Given the description of an element on the screen output the (x, y) to click on. 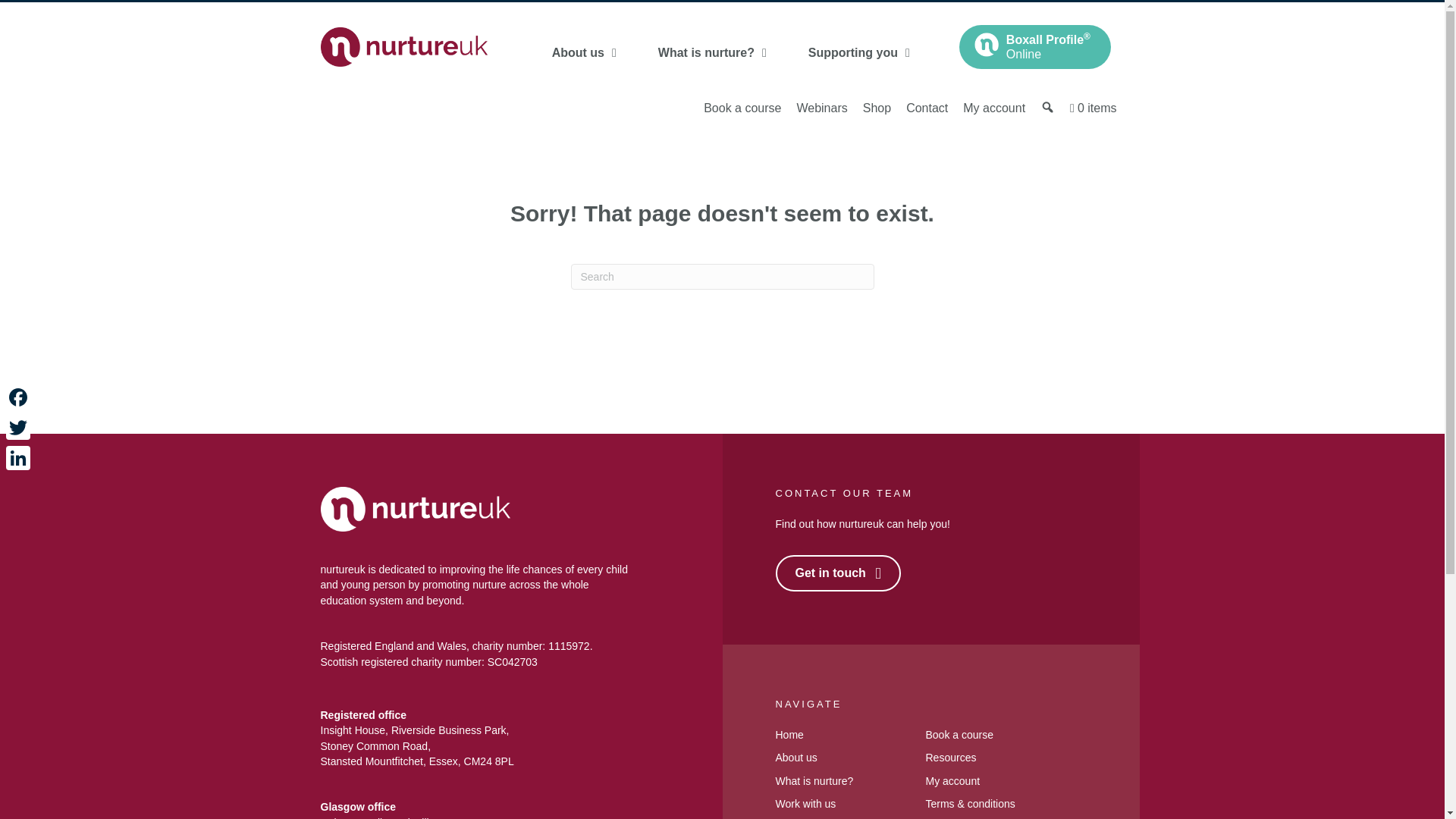
Twitter (17, 427)
Start shopping (1093, 107)
NurtureUK-logo-RGB-BLK (403, 46)
NurtureUK-logo-RGB-WH-1536x361 (414, 508)
What is nurture? (712, 52)
Type and press Enter to search. (721, 276)
LinkedIn (17, 458)
Supporting you (858, 52)
Facebook (17, 397)
About us (584, 52)
